Given the description of an element on the screen output the (x, y) to click on. 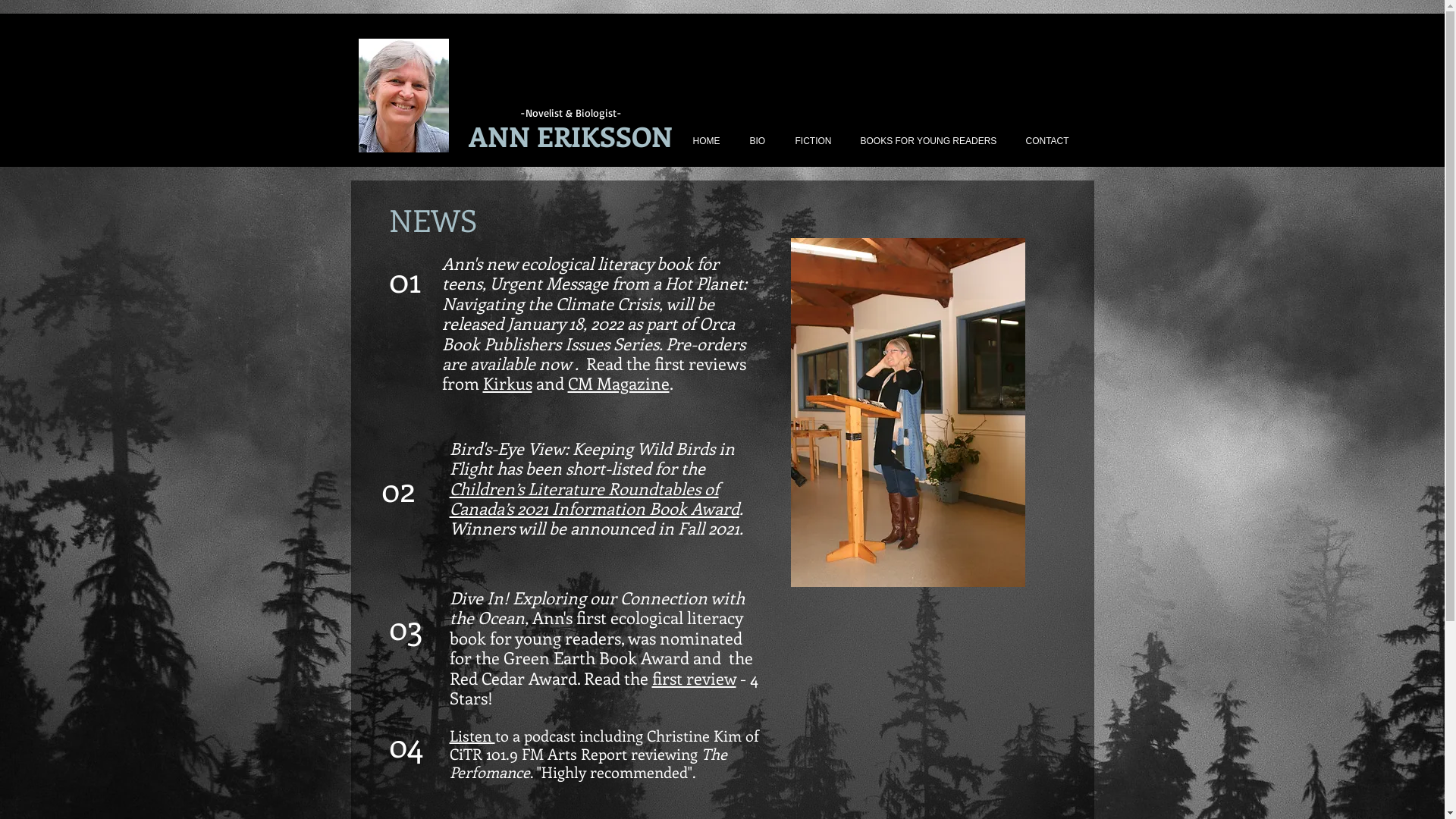
first review Element type: text (694, 677)
CM Magazine Element type: text (617, 382)
Listen Element type: text (471, 734)
HOME Element type: text (712, 141)
Ann Photo 2.jpg Element type: hover (402, 95)
FICTION Element type: text (819, 141)
CONTACT Element type: text (1053, 141)
ANN ERIKSSON Element type: text (570, 135)
Kirkus Element type: text (506, 382)
BIO Element type: text (764, 141)
BOOKS FOR YOUNG READERS Element type: text (934, 141)
